Given the description of an element on the screen output the (x, y) to click on. 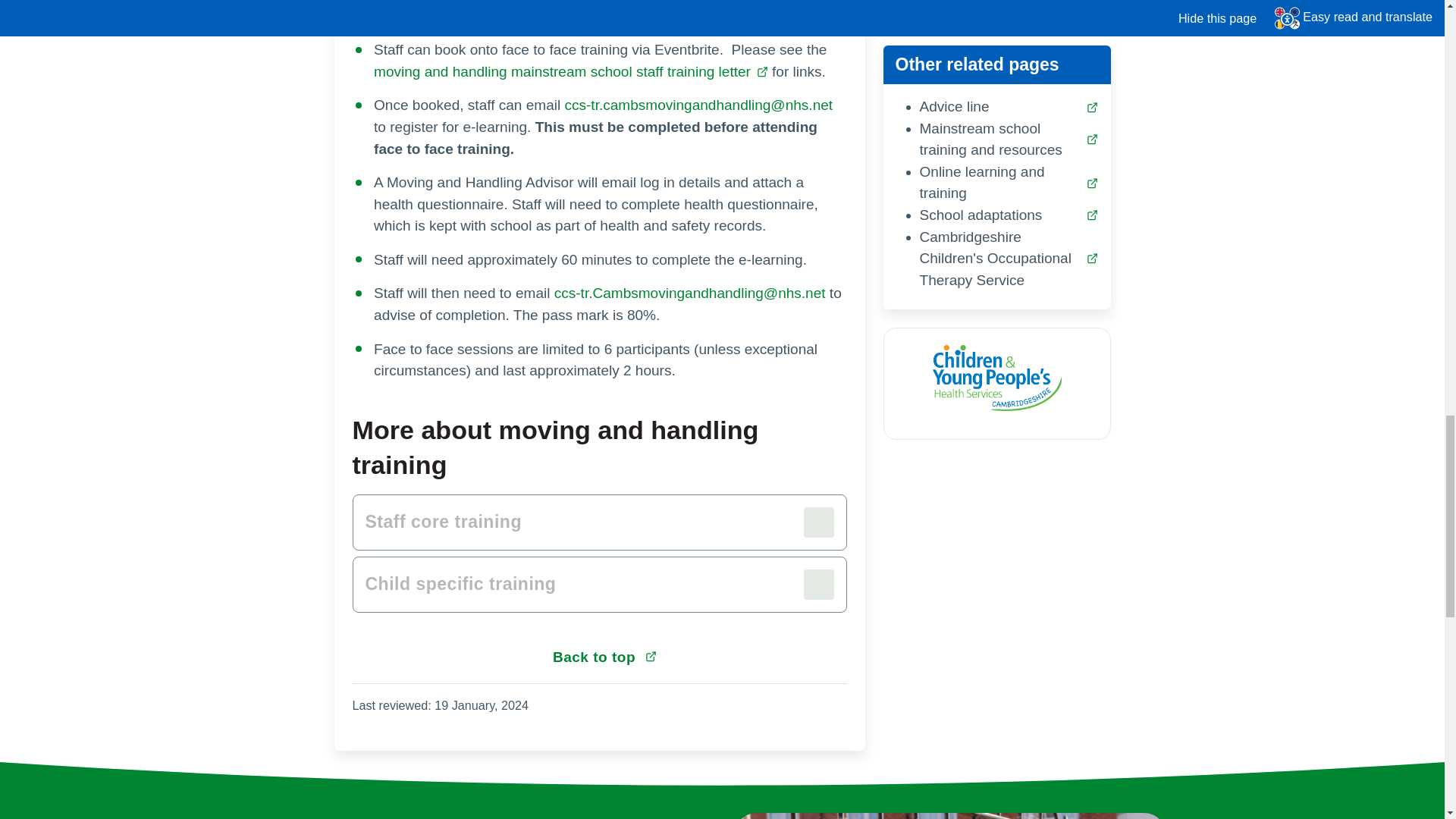
expand content (599, 522)
expand content (599, 584)
Moving and handling mainstream school staff training letter (571, 71)
